Given the description of an element on the screen output the (x, y) to click on. 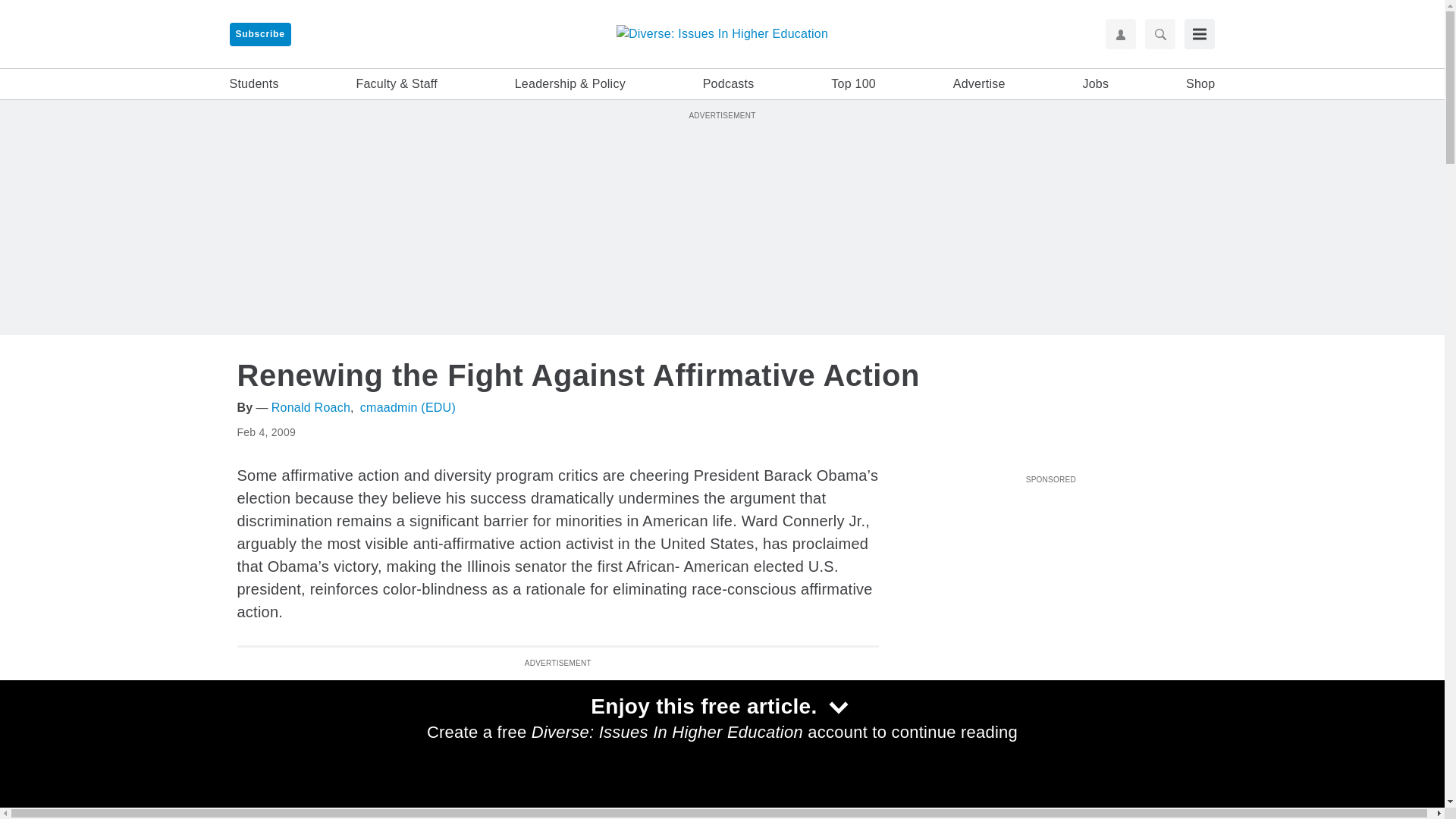
Shop (1200, 84)
Youtube Player (1050, 574)
Podcasts (728, 84)
Jobs (1094, 84)
Students (253, 84)
Subscribe (258, 33)
Advertise (979, 84)
Subscribe (258, 33)
Top 100 (853, 84)
